Given the description of an element on the screen output the (x, y) to click on. 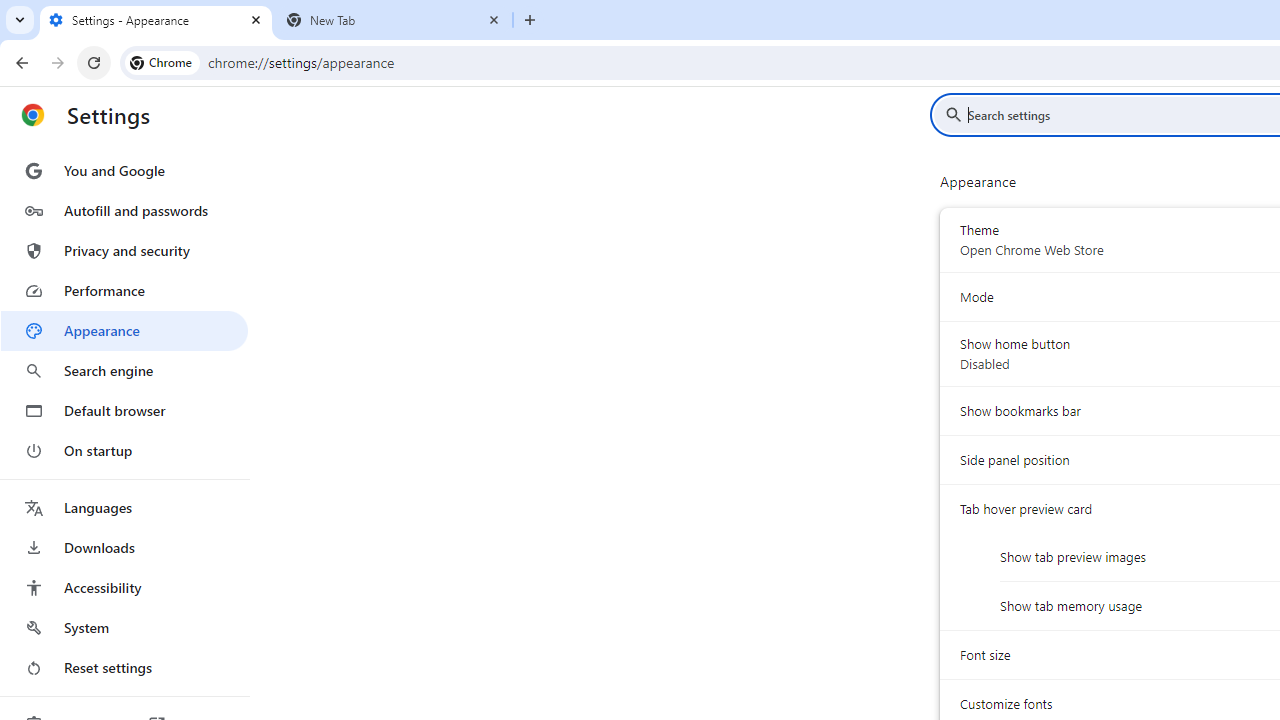
Downloads (124, 547)
Chrome (162, 62)
Search tabs (20, 20)
Default browser (124, 410)
Appearance (124, 331)
Autofill and passwords (124, 210)
Reload (93, 62)
System (10, 11)
You and Google (124, 170)
Privacy and security (124, 250)
System (10, 11)
On startup (124, 450)
New Tab (394, 20)
Back (19, 62)
